Given the description of an element on the screen output the (x, y) to click on. 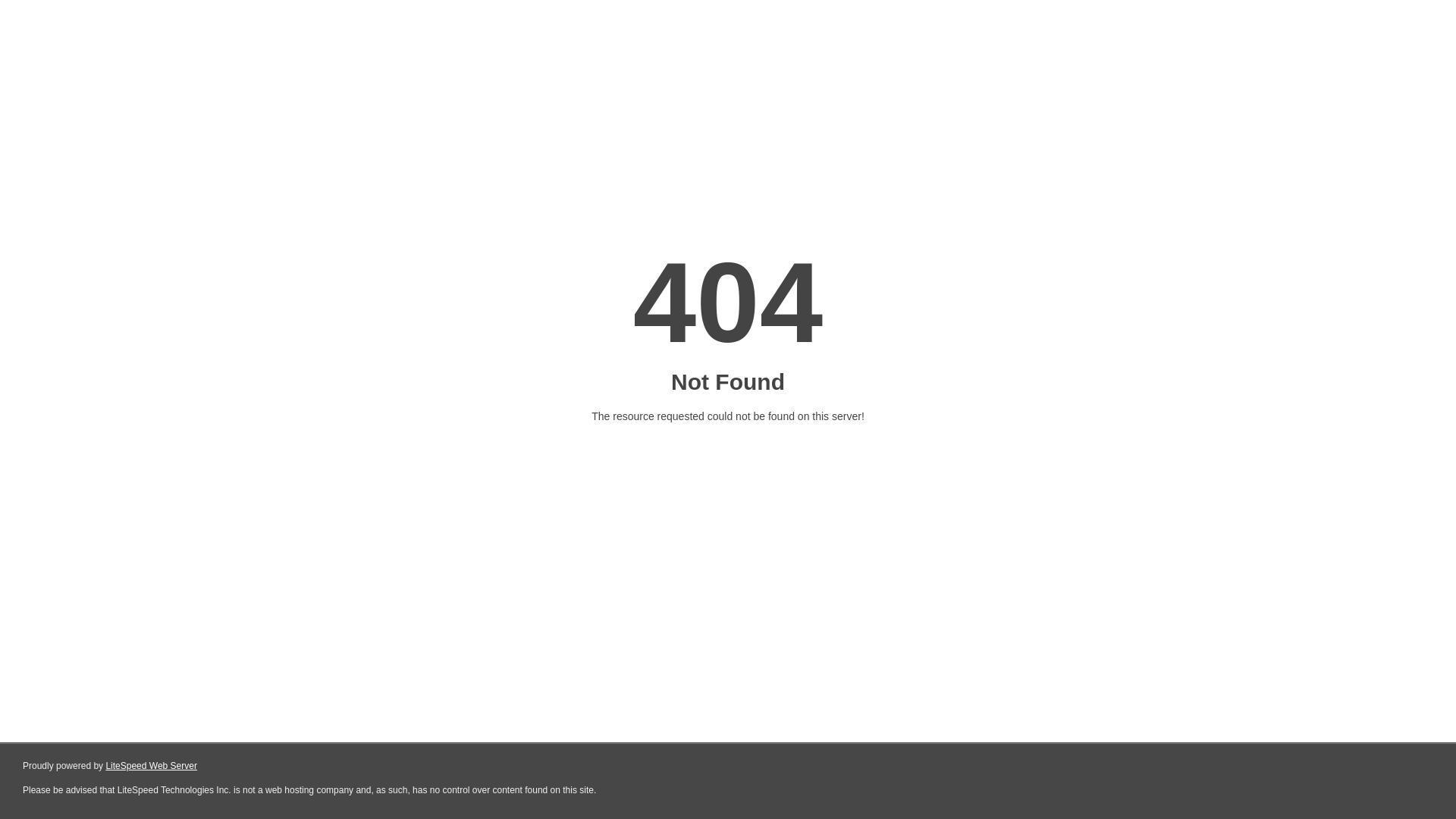
LiteSpeed Web Server Element type: text (151, 765)
